Given the description of an element on the screen output the (x, y) to click on. 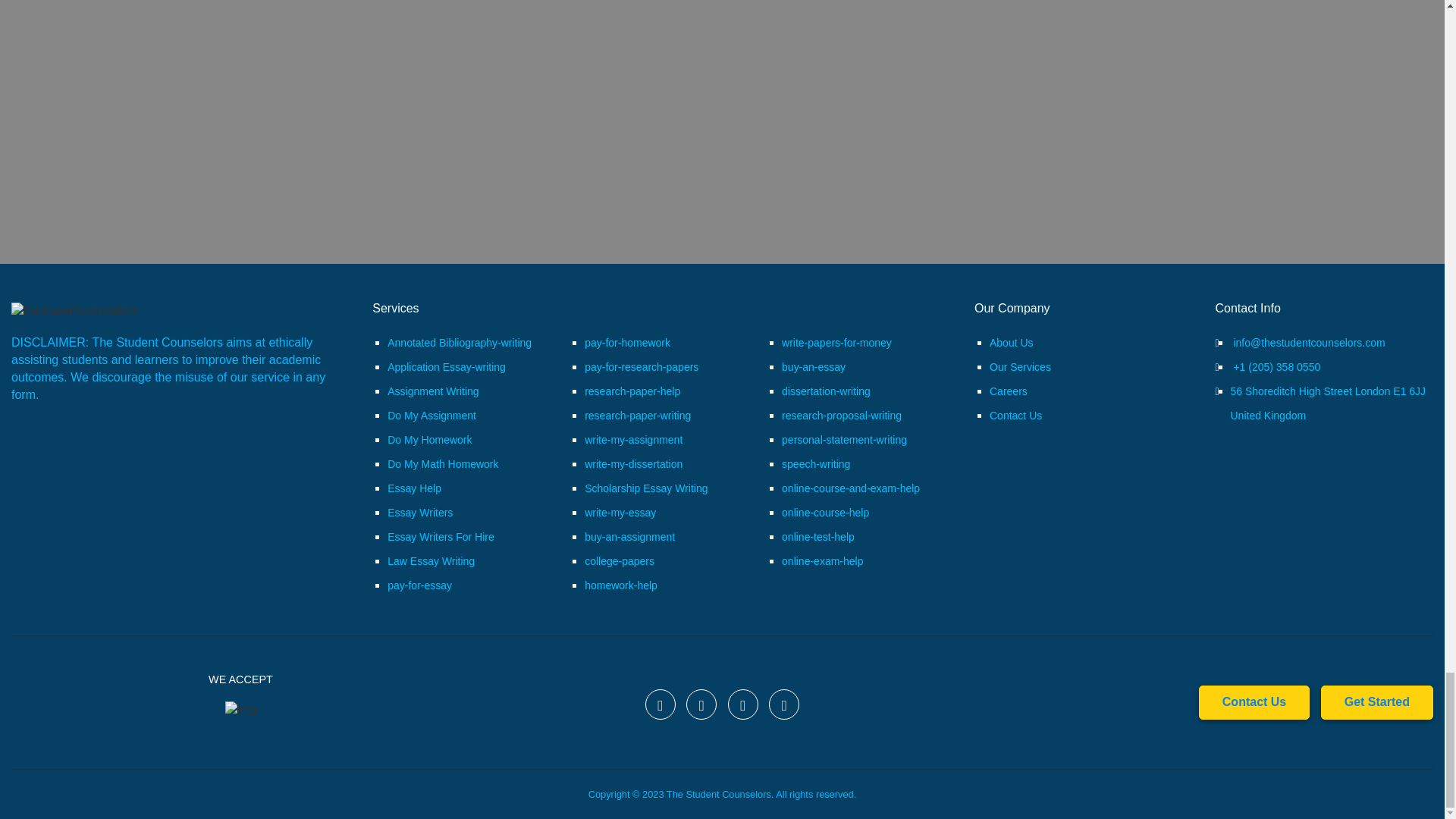
Essay Writers (419, 512)
Assignment Writing (433, 390)
Application Essay-writing (446, 367)
Do My Math Homework (442, 463)
Annotated Bibliography-writing (459, 342)
Do My Homework (429, 439)
pay-for-essay (419, 585)
Essay Writers For Hire (441, 536)
Law Essay Writing (430, 561)
Essay Help (414, 488)
pay-for-homework (627, 342)
Do My Assignment (431, 415)
pay-for-research-papers (641, 367)
